Given the description of an element on the screen output the (x, y) to click on. 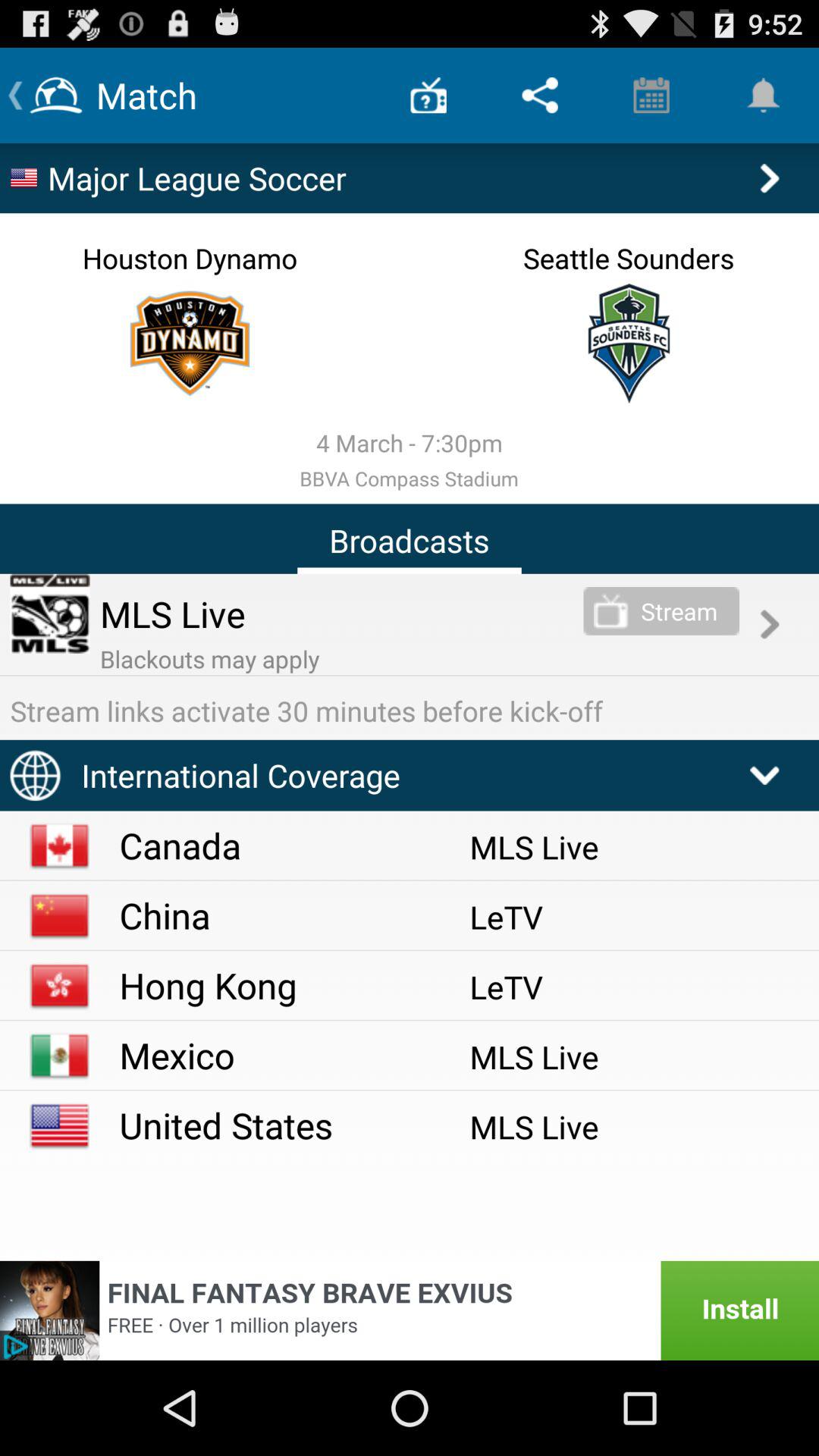
click item above the major league soccer app (540, 95)
